Given the description of an element on the screen output the (x, y) to click on. 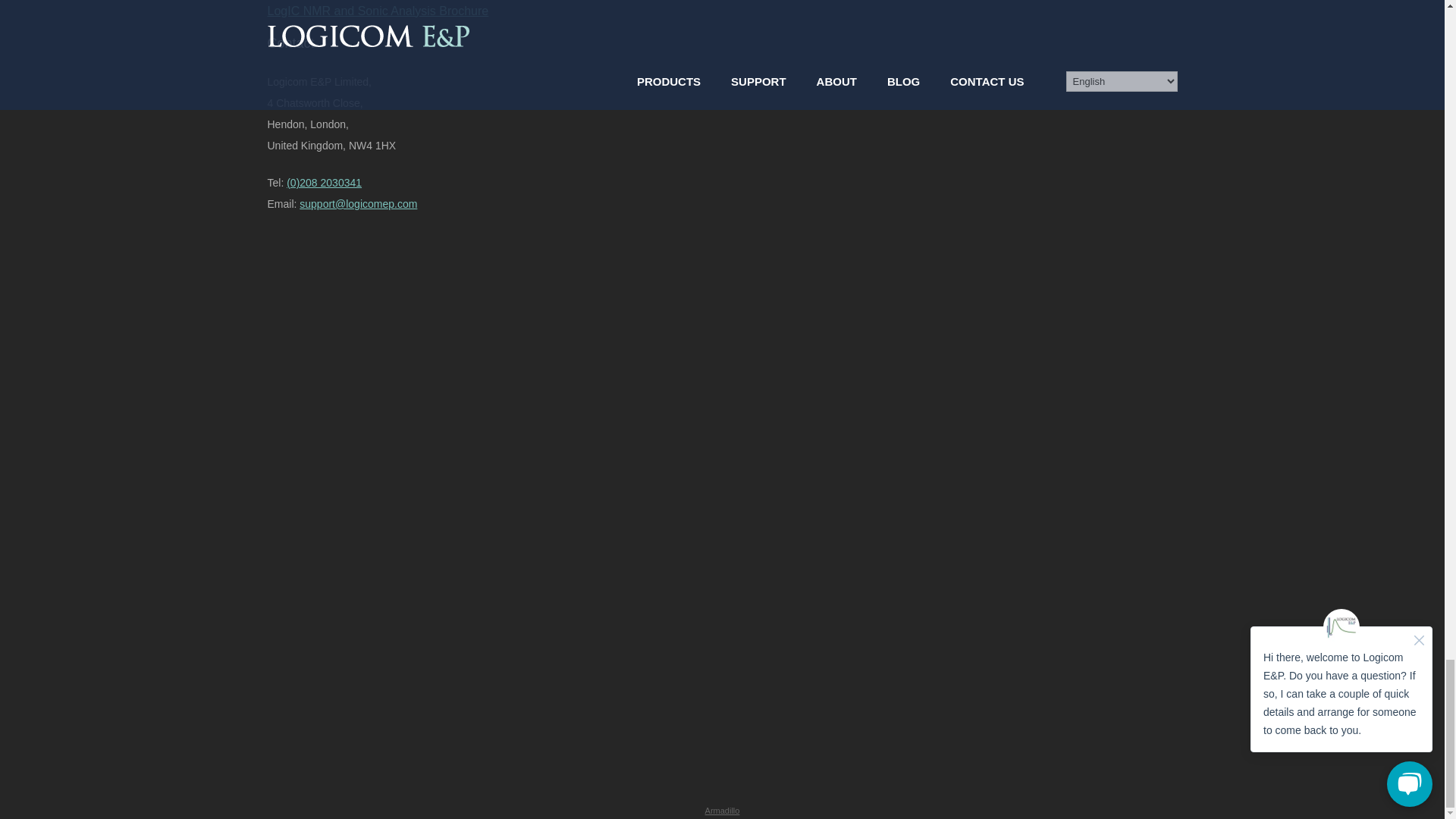
Twitter (380, 459)
LogIC NMR and Sonic Analysis Brochure (721, 11)
LinkedIn (380, 577)
Instagram (380, 697)
Facebook (380, 339)
